Given the description of an element on the screen output the (x, y) to click on. 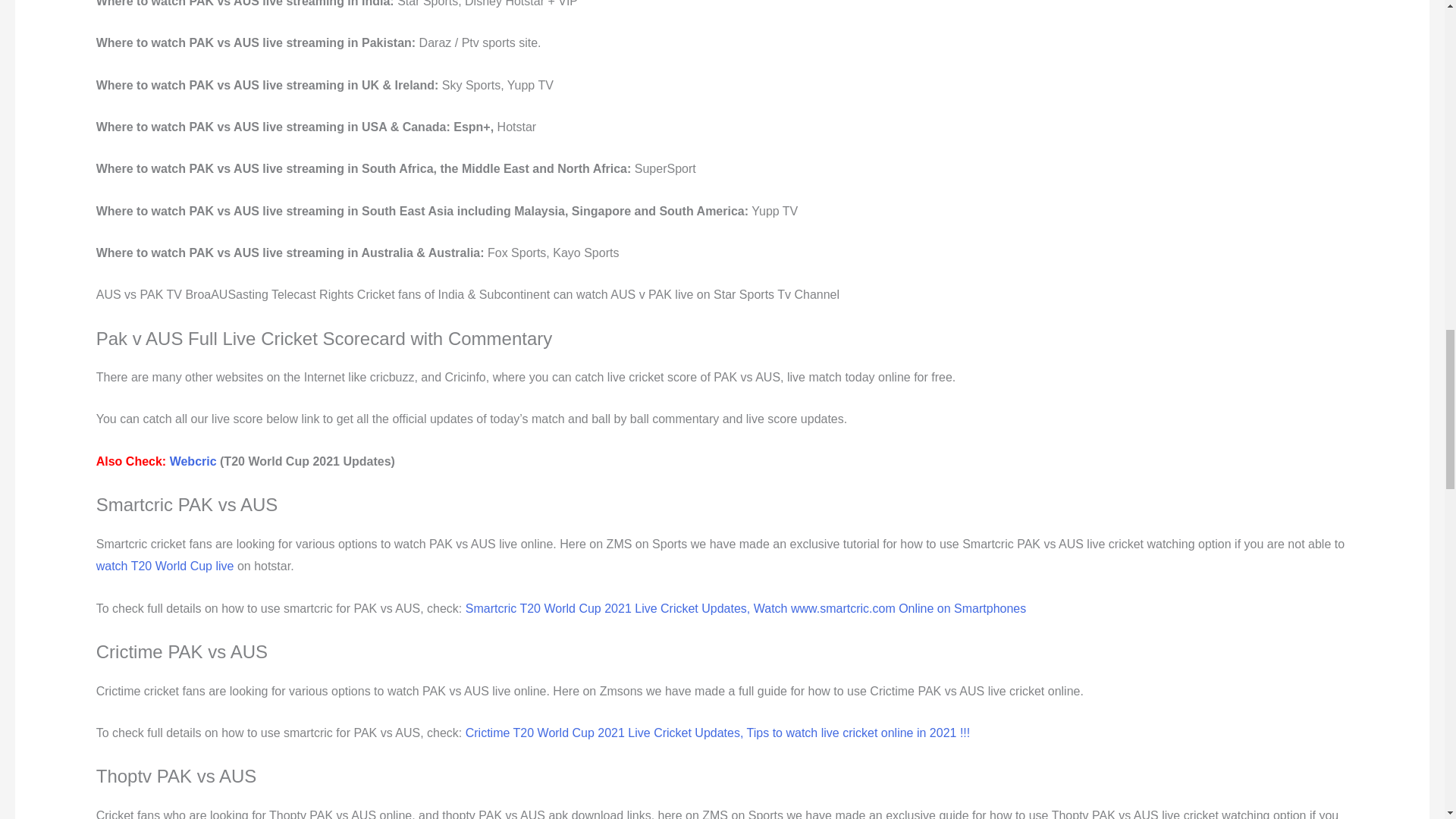
Webcric (193, 461)
watch T20 World Cup live (165, 565)
